Given the description of an element on the screen output the (x, y) to click on. 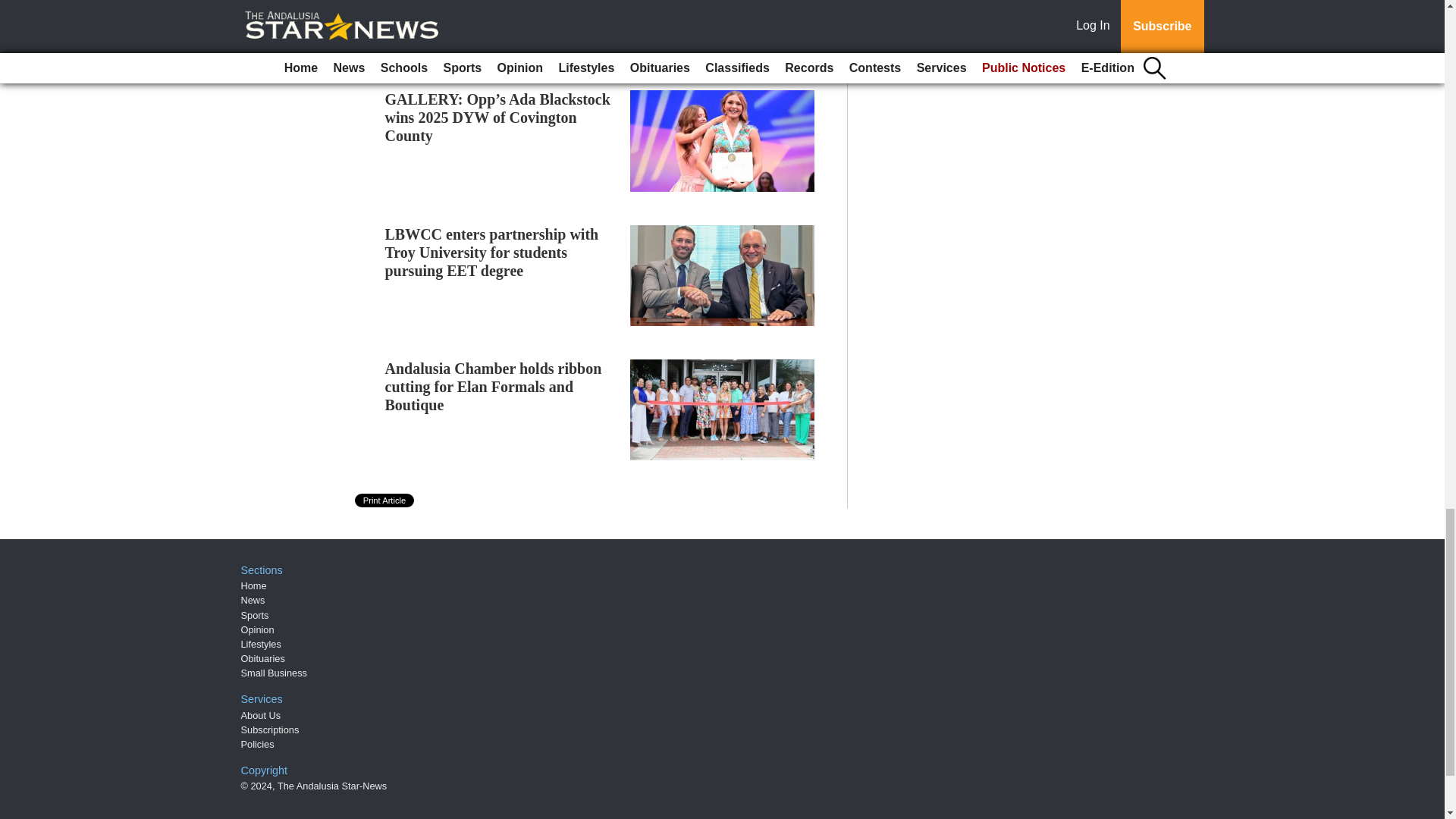
News (252, 600)
Home (253, 585)
Print Article (384, 499)
